Given the description of an element on the screen output the (x, y) to click on. 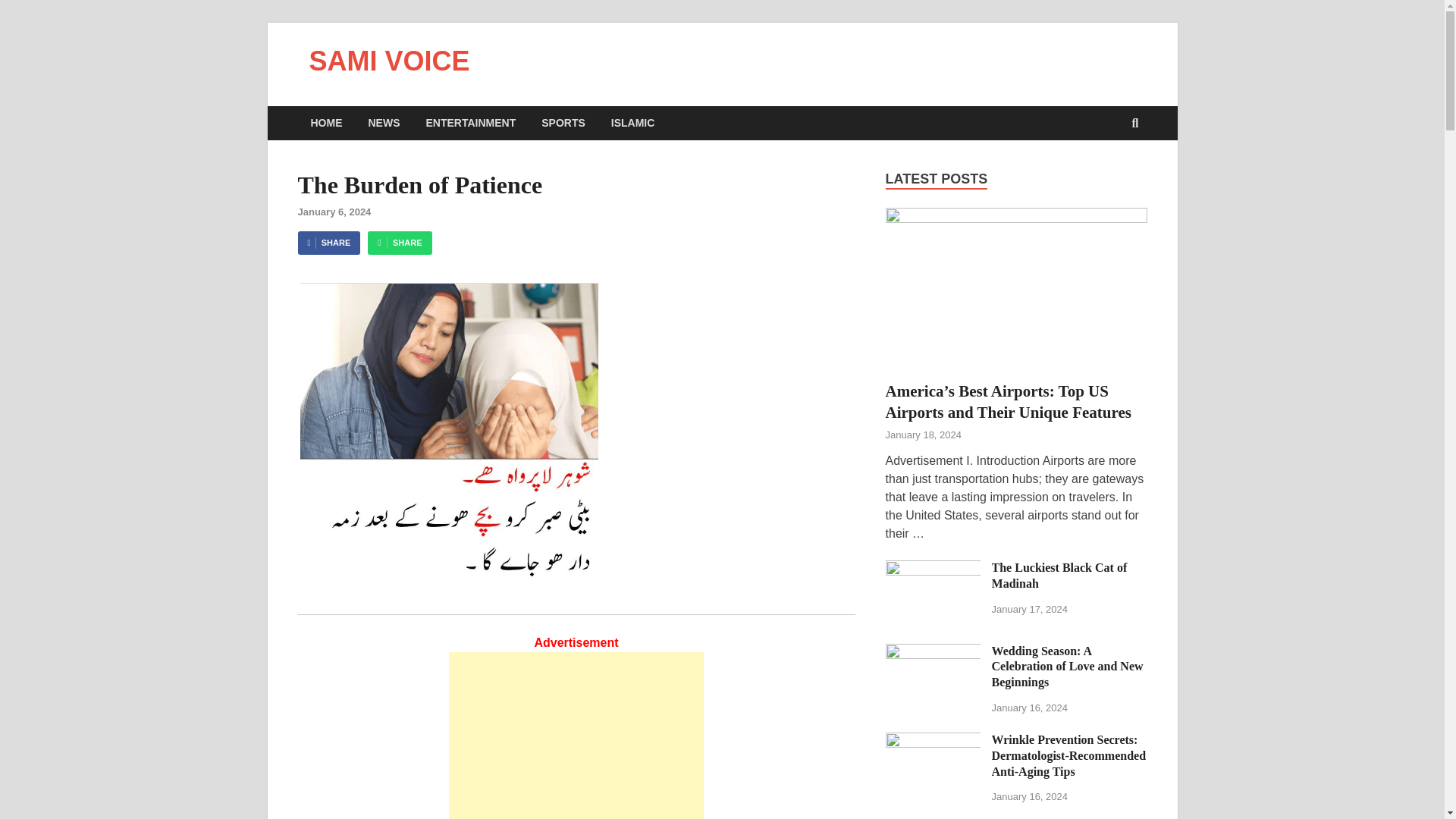
Wedding Season: A Celebration of Love and New Beginnings (932, 652)
January 6, 2024 (334, 211)
SAMI VOICE (389, 60)
HOME (326, 123)
ISLAMIC (633, 123)
ENTERTAINMENT (470, 123)
Wedding Season: A Celebration of Love and New Beginnings (1066, 666)
The Luckiest Black Cat of Madinah (932, 568)
SPORTS (563, 123)
